Given the description of an element on the screen output the (x, y) to click on. 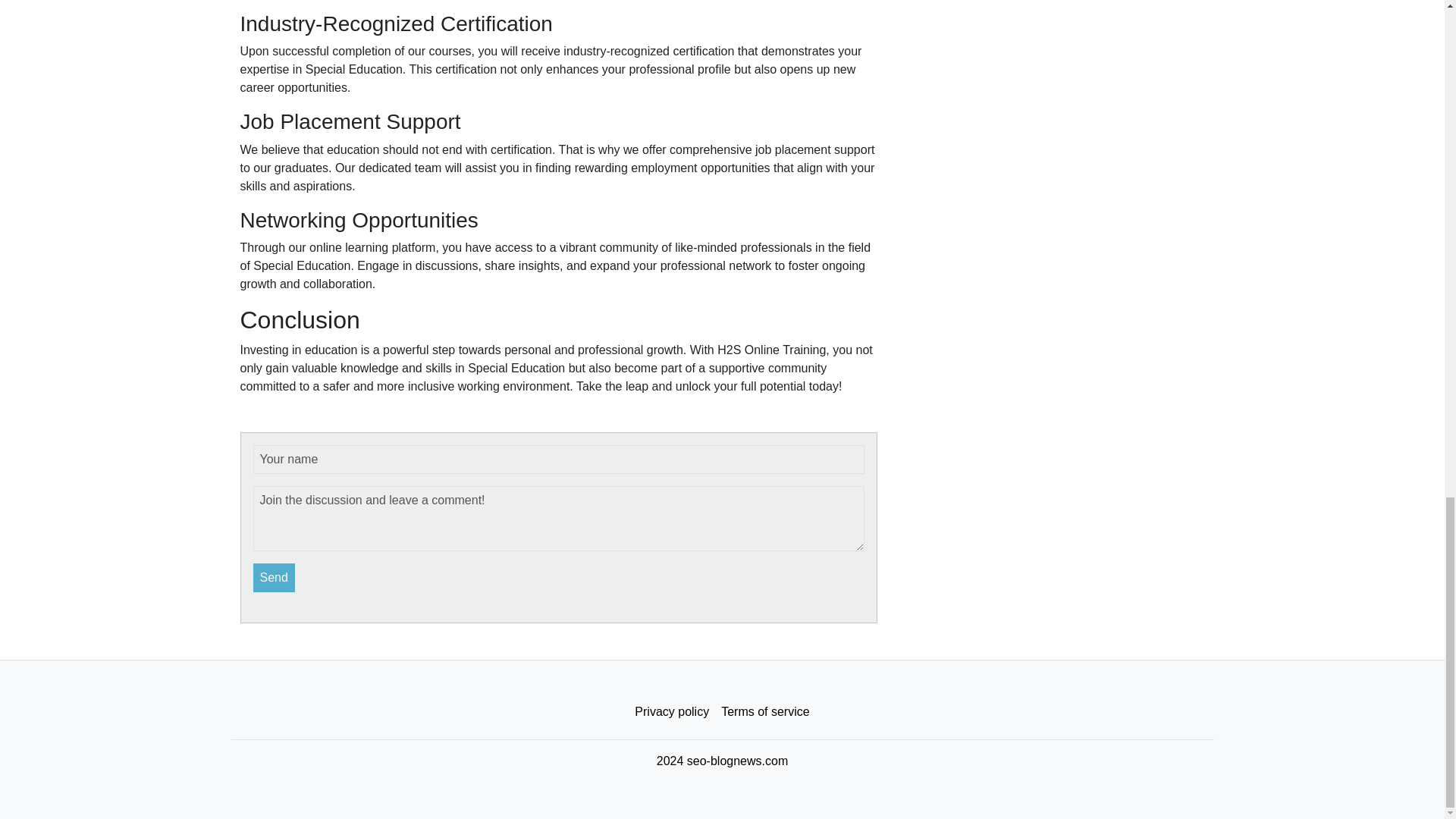
Privacy policy (671, 711)
Send (274, 577)
Send (274, 577)
Terms of service (764, 711)
